Given the description of an element on the screen output the (x, y) to click on. 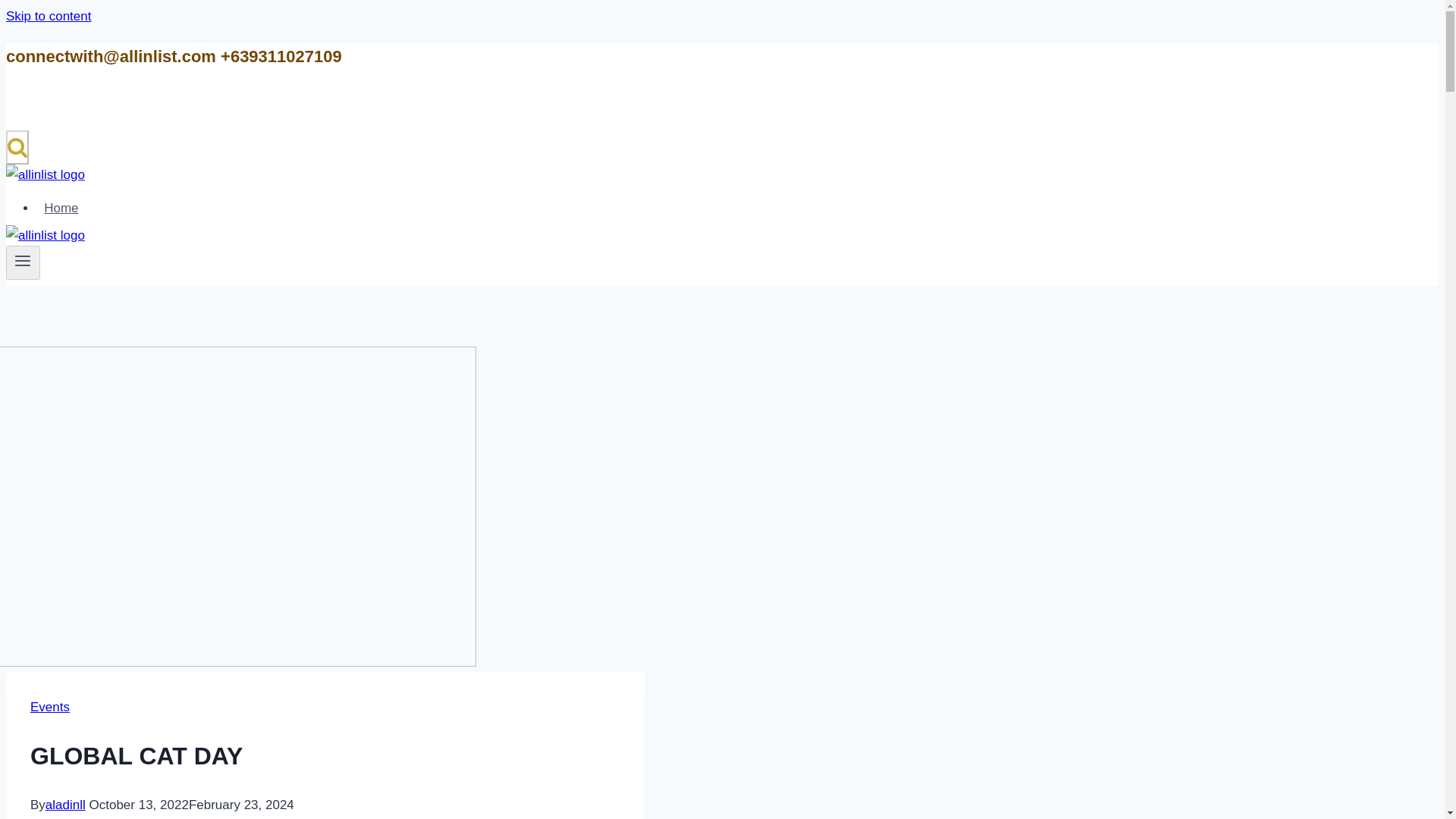
aladinll (65, 804)
Home (60, 207)
Skip to content (47, 16)
Search (17, 147)
Toggle Menu (22, 262)
Events (49, 707)
Toggle Menu (22, 260)
Skip to content (47, 16)
